Given the description of an element on the screen output the (x, y) to click on. 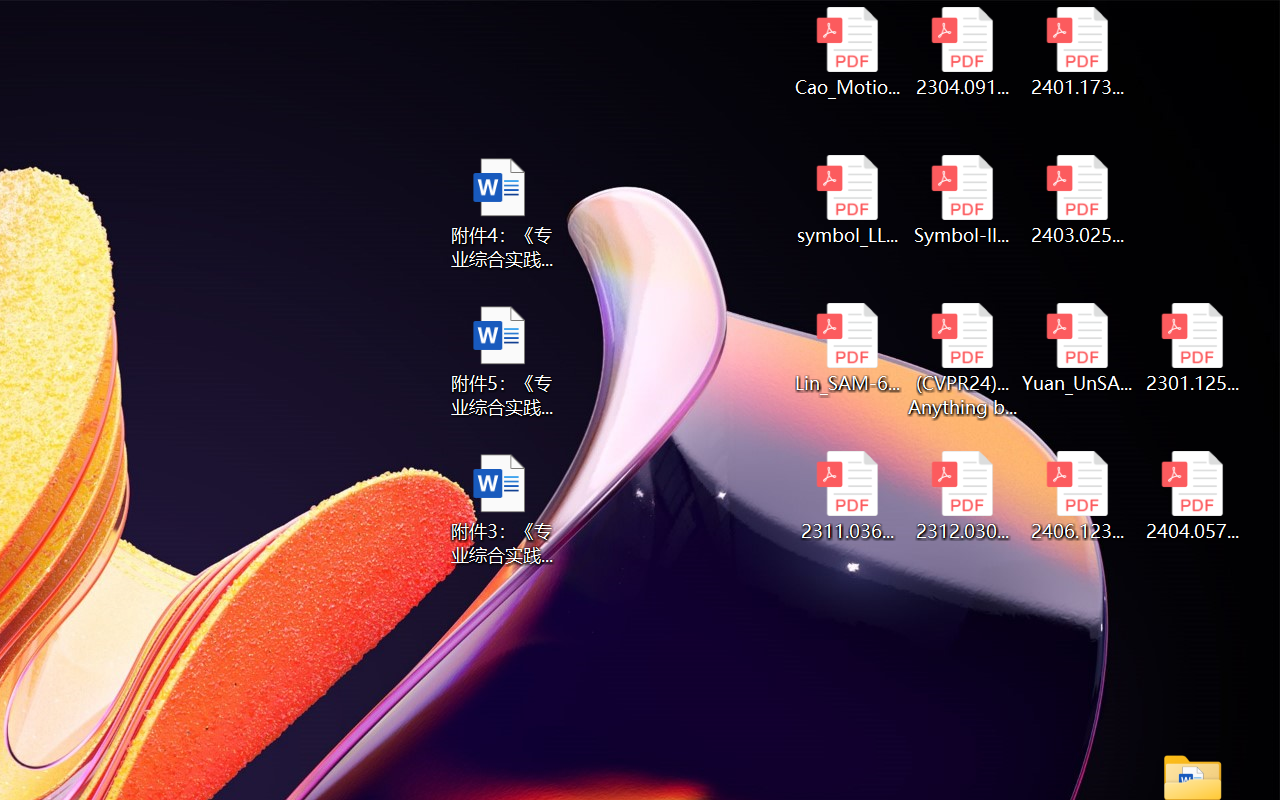
Symbol-llm-v2.pdf (962, 200)
2304.09121v3.pdf (962, 52)
2403.02502v1.pdf (1077, 200)
2404.05719v1.pdf (1192, 496)
2311.03658v2.pdf (846, 496)
symbol_LLM.pdf (846, 200)
(CVPR24)Matching Anything by Segmenting Anything.pdf (962, 360)
2312.03032v2.pdf (962, 496)
2301.12597v3.pdf (1192, 348)
